Given the description of an element on the screen output the (x, y) to click on. 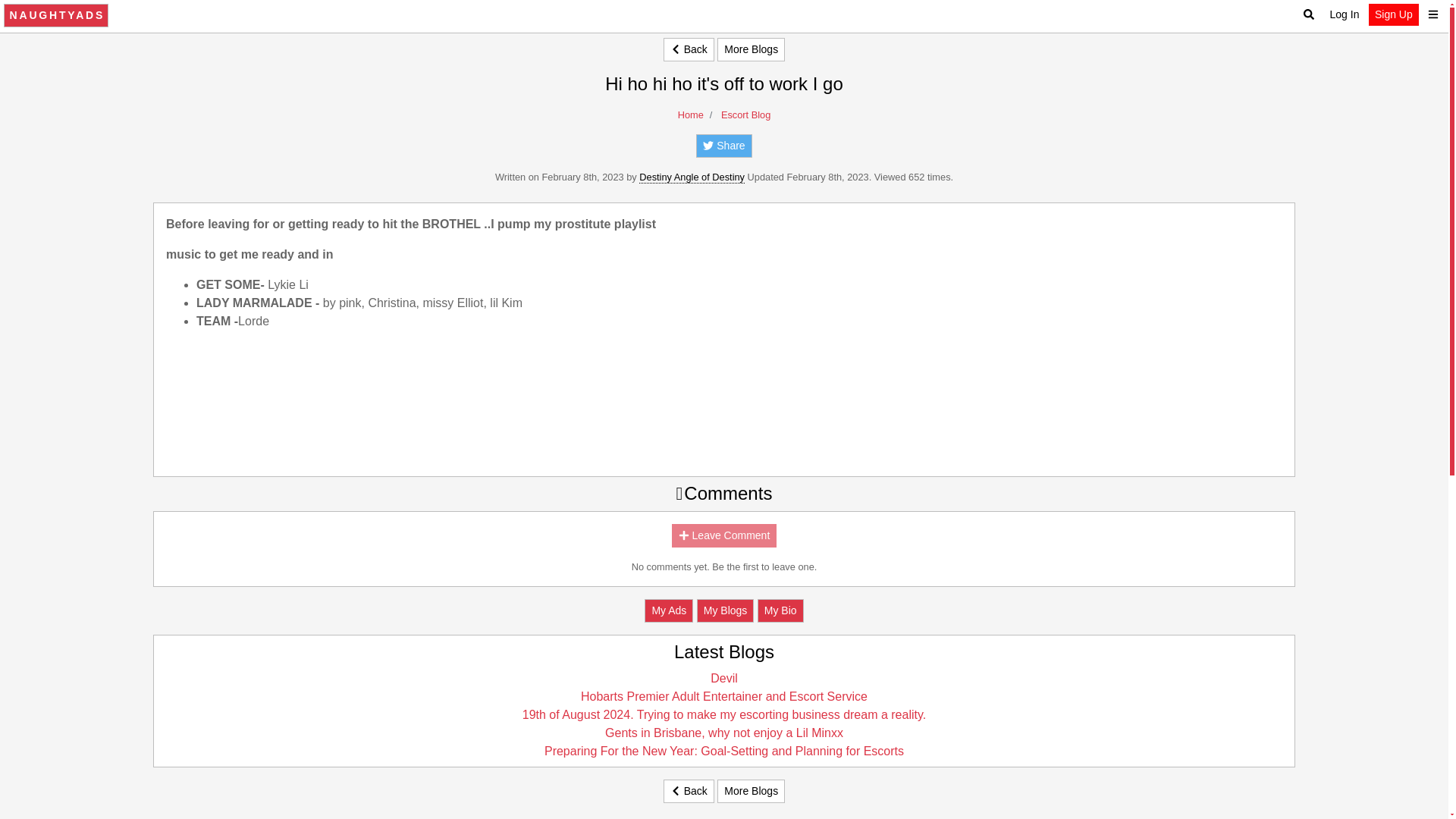
NAUGHTYADS (55, 15)
More Blogs (750, 49)
Share (723, 146)
My Blogs (725, 610)
Destiny Angle of Destiny (691, 177)
Naughty Ads - Escorts Directory (55, 15)
Escort Blog (745, 114)
Leave Comment (724, 535)
Home (690, 114)
Log In (1344, 14)
